Given the description of an element on the screen output the (x, y) to click on. 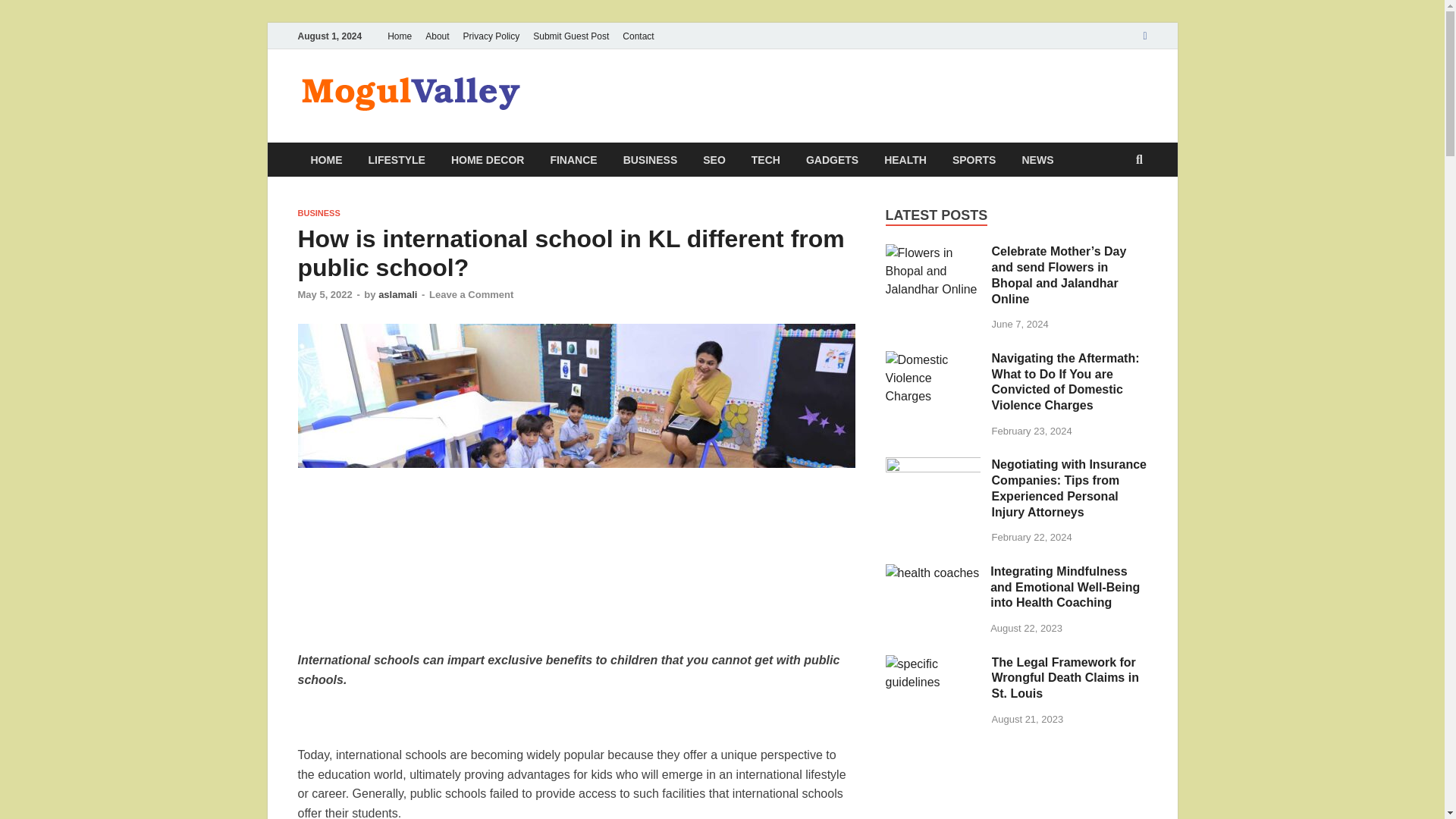
HEALTH (904, 159)
BUSINESS (318, 212)
Home (399, 35)
BUSINESS (650, 159)
HOME (326, 159)
TECH (765, 159)
Contact (638, 35)
Mogul Valley (619, 100)
SPORTS (974, 159)
May 5, 2022 (324, 294)
Submit Guest Post (570, 35)
LIFESTYLE (396, 159)
HOME DECOR (487, 159)
GADGETS (831, 159)
